Given the description of an element on the screen output the (x, y) to click on. 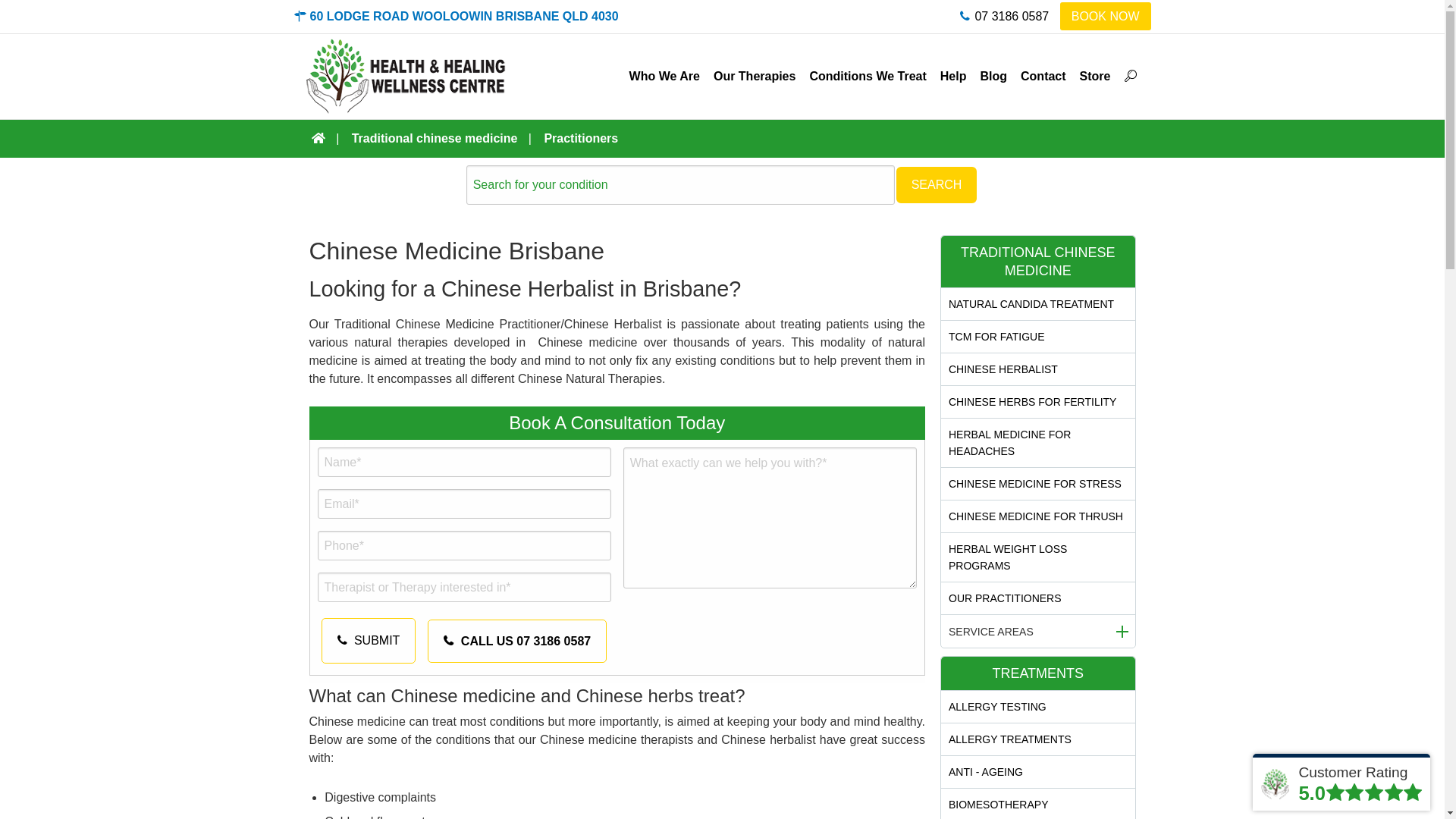
SUBMIT Element type: text (368, 640)
CALL US 07 3186 0587 Element type: text (516, 640)
CHINESE MEDICINE FOR STRESS Element type: text (1038, 483)
Heath & Healing Wellness Center Home Element type: hover (405, 75)
Traditional chinese medicine Element type: text (435, 137)
NATURAL CANDIDA TREATMENT Element type: text (1038, 304)
HERBAL WEIGHT LOSS PROGRAMS Element type: text (1038, 557)
Search Element type: text (1115, 58)
ALLERGY TREATMENTS Element type: text (1038, 739)
Conditions We Treat Element type: text (867, 76)
Our Therapies Element type: text (754, 76)
CHINESE HERBALIST Element type: text (1038, 369)
TCM FOR FATIGUE Element type: text (1038, 336)
CHINESE MEDICINE FOR THRUSH Element type: text (1038, 516)
Help Element type: text (953, 76)
60 LODGE ROAD WOOLOOWIN BRISBANE QLD 4030 Element type: text (456, 15)
Who We Are Element type: text (664, 76)
07 3186 0587 Element type: text (1003, 15)
Practitioners Element type: text (580, 137)
Blog Element type: text (992, 76)
SEARCH Element type: text (936, 184)
HERBAL MEDICINE FOR HEADACHES Element type: text (1038, 442)
Customer Rating
5.0 Element type: text (1341, 781)
OUR PRACTITIONERS Element type: text (1038, 598)
ALLERGY TESTING Element type: text (1038, 706)
ANTI - AGEING Element type: text (1038, 771)
BOOK NOW Element type: text (1105, 16)
CHINESE HERBS FOR FERTILITY Element type: text (1038, 401)
Contact Element type: text (1043, 76)
Store Element type: text (1095, 76)
